Given the description of an element on the screen output the (x, y) to click on. 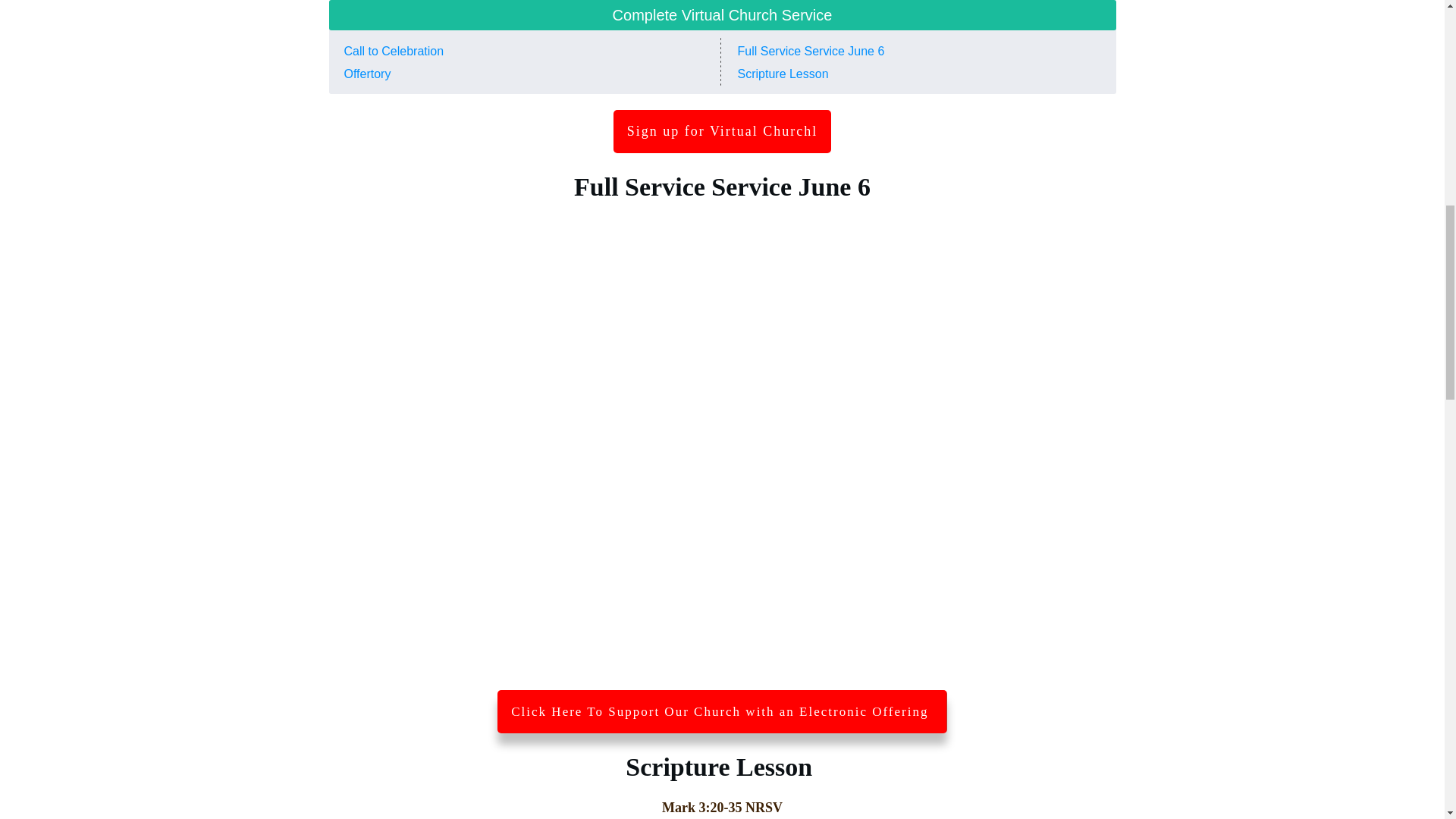
Sign up for Virtual Churchl (721, 131)
Full Service Service June 6 (809, 51)
Offertory (367, 73)
Scripture Lesson  (783, 73)
Call to Celebration (393, 51)
